Given the description of an element on the screen output the (x, y) to click on. 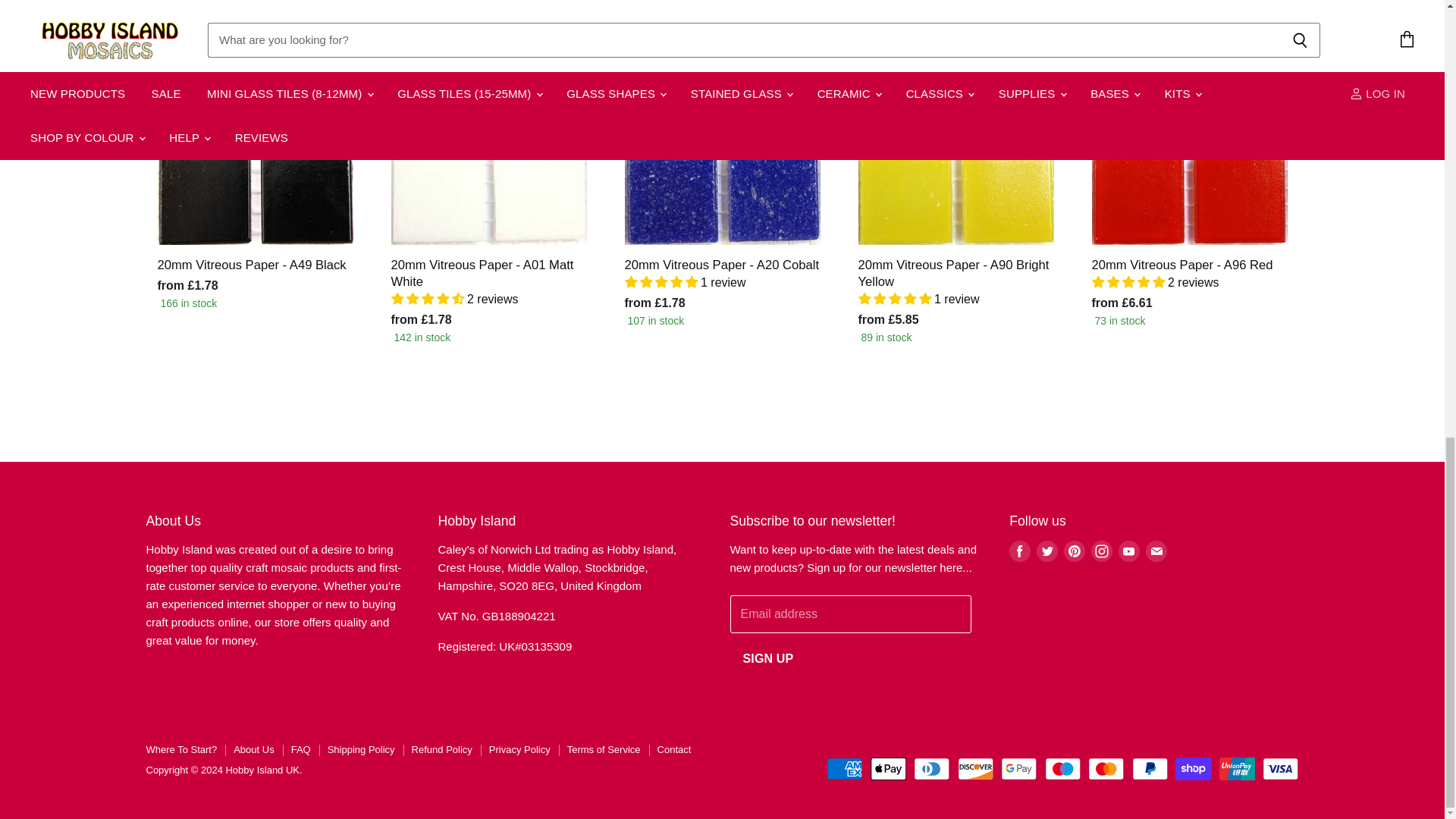
Youtube (1128, 551)
Pinterest (1074, 551)
Instagram (1101, 551)
Twitter (1047, 551)
Facebook (1019, 551)
E-mail (1156, 551)
